Given the description of an element on the screen output the (x, y) to click on. 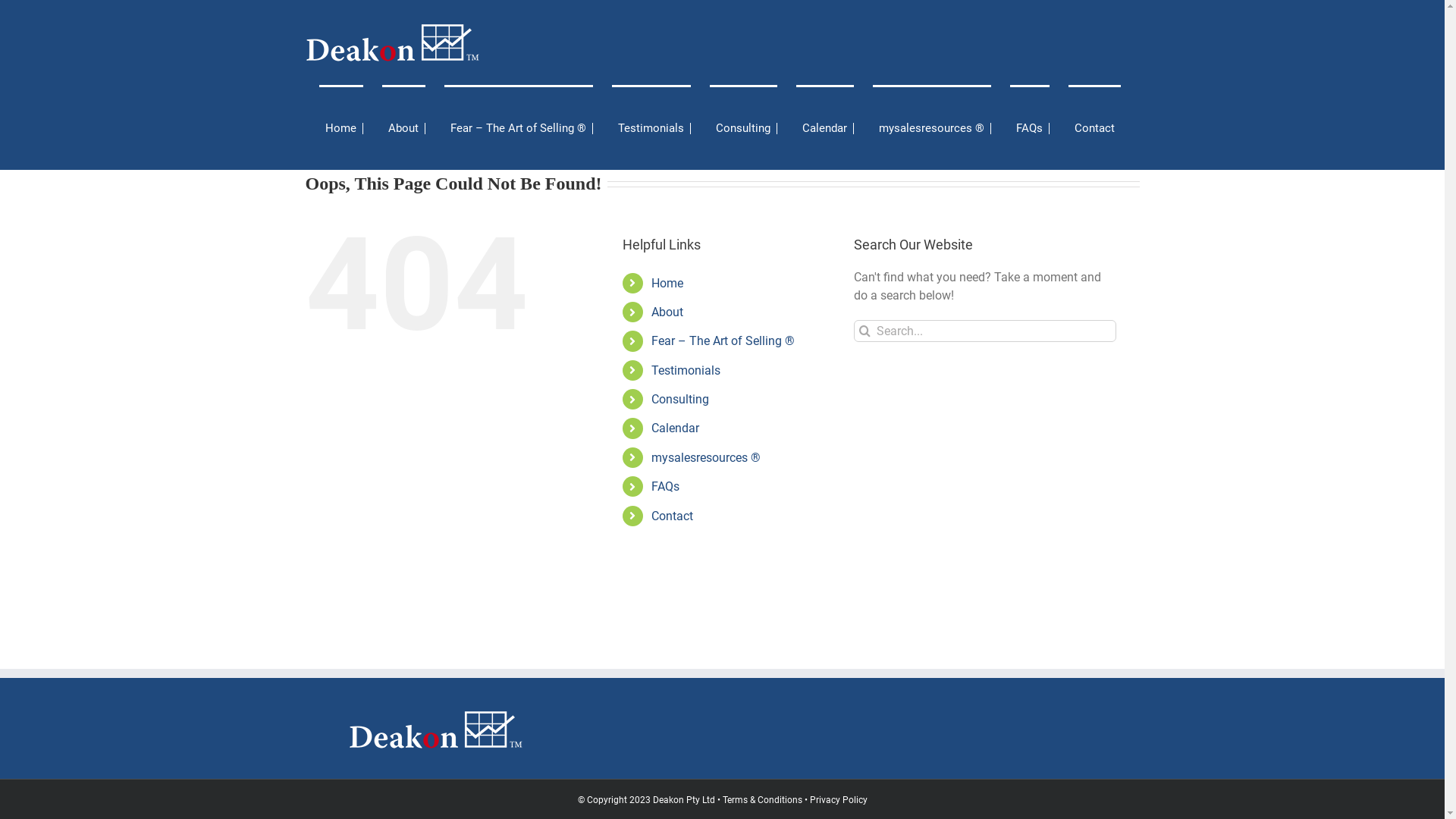
Calendar Element type: text (675, 427)
Contact Element type: text (1093, 126)
Calendar Element type: text (824, 126)
Consulting Element type: text (743, 126)
Privacy Policy Element type: text (838, 799)
Terms & Conditions Element type: text (762, 799)
FAQs Element type: text (1029, 126)
Consulting Element type: text (680, 399)
Contact Element type: text (672, 515)
About Element type: text (403, 126)
About Element type: text (667, 311)
FAQs Element type: text (665, 486)
Home Element type: text (667, 283)
Home Element type: text (340, 126)
Testimonials Element type: text (650, 126)
Testimonials Element type: text (685, 370)
